Given the description of an element on the screen output the (x, y) to click on. 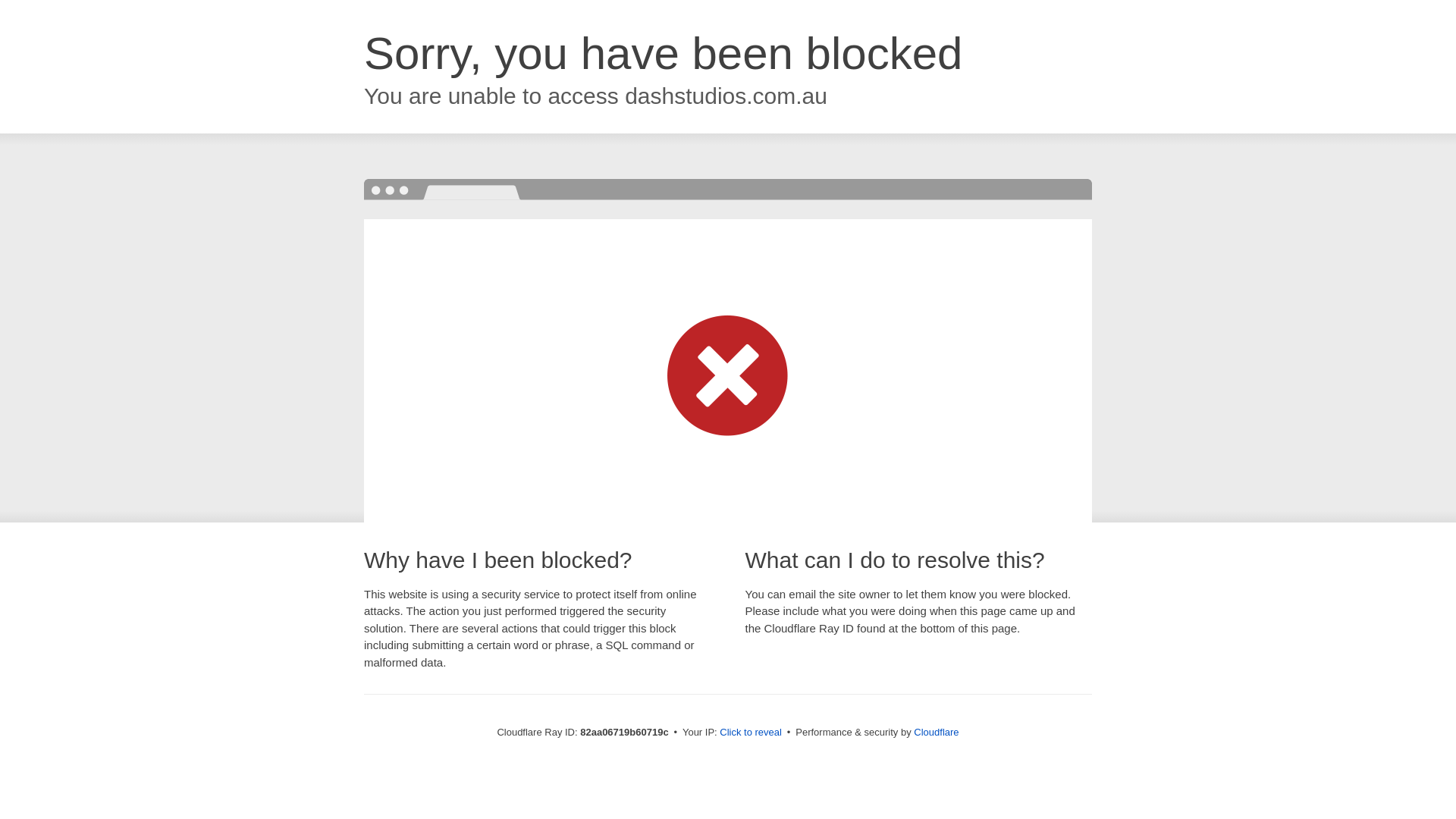
Cloudflare Element type: text (935, 731)
Click to reveal Element type: text (750, 732)
